Given the description of an element on the screen output the (x, y) to click on. 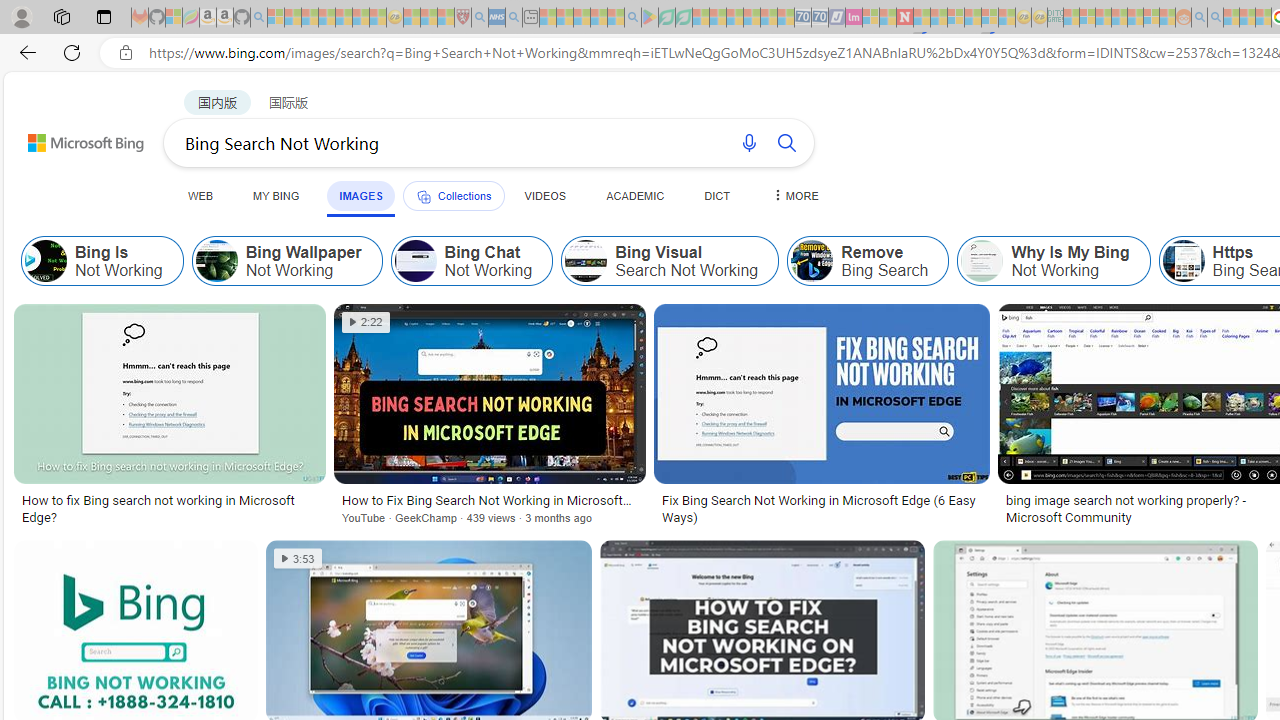
MY BING (276, 195)
Bing Wallpaper Not Working (286, 260)
